Given the description of an element on the screen output the (x, y) to click on. 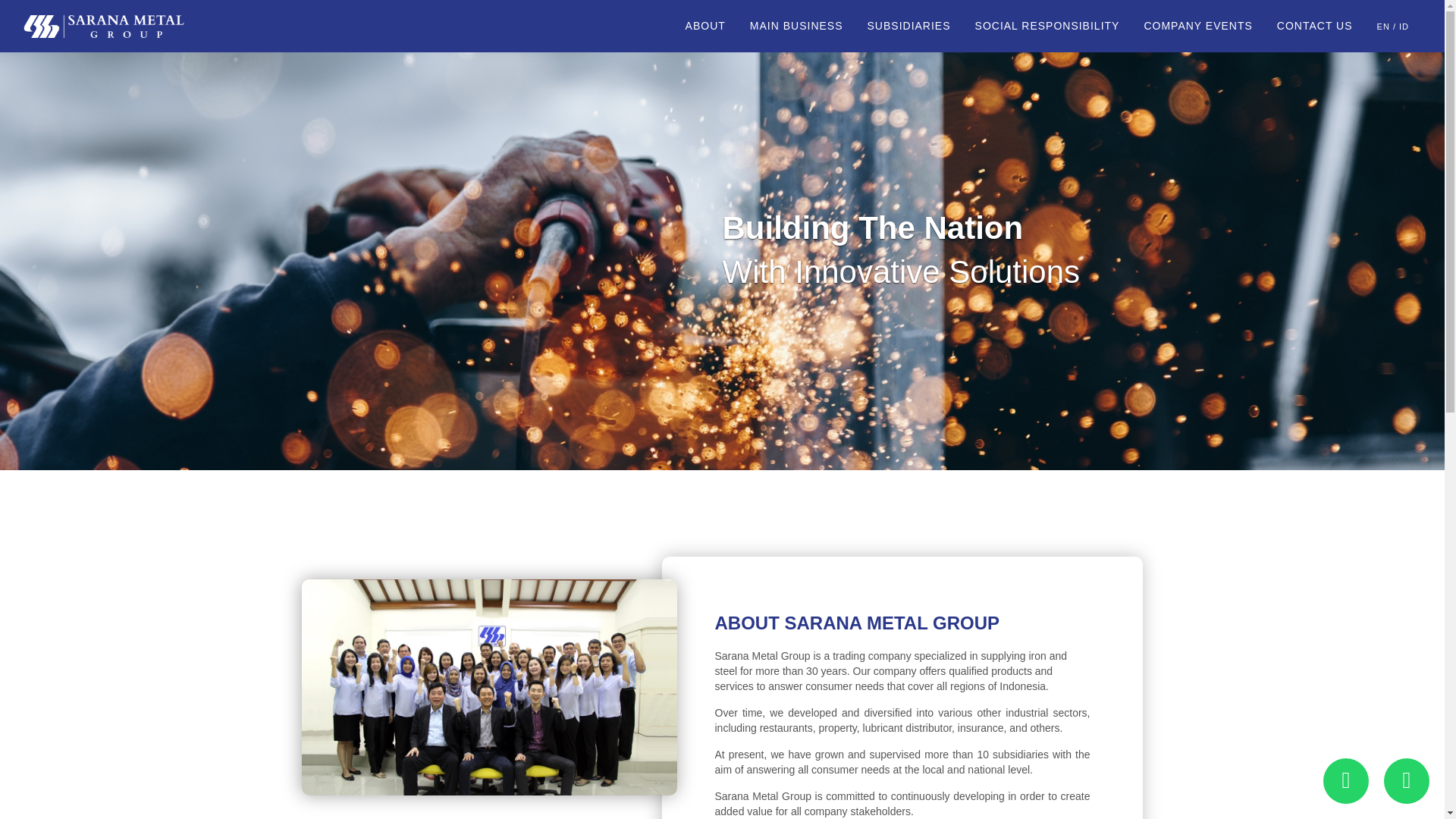
CONTACT US (1315, 26)
COMPANY EVENTS (1197, 26)
SUBSIDIARIES (909, 26)
MAIN BUSINESS (797, 26)
ABOUT (705, 26)
EN (1383, 26)
SOCIAL RESPONSIBILITY (1047, 26)
ID (1404, 26)
